Given the description of an element on the screen output the (x, y) to click on. 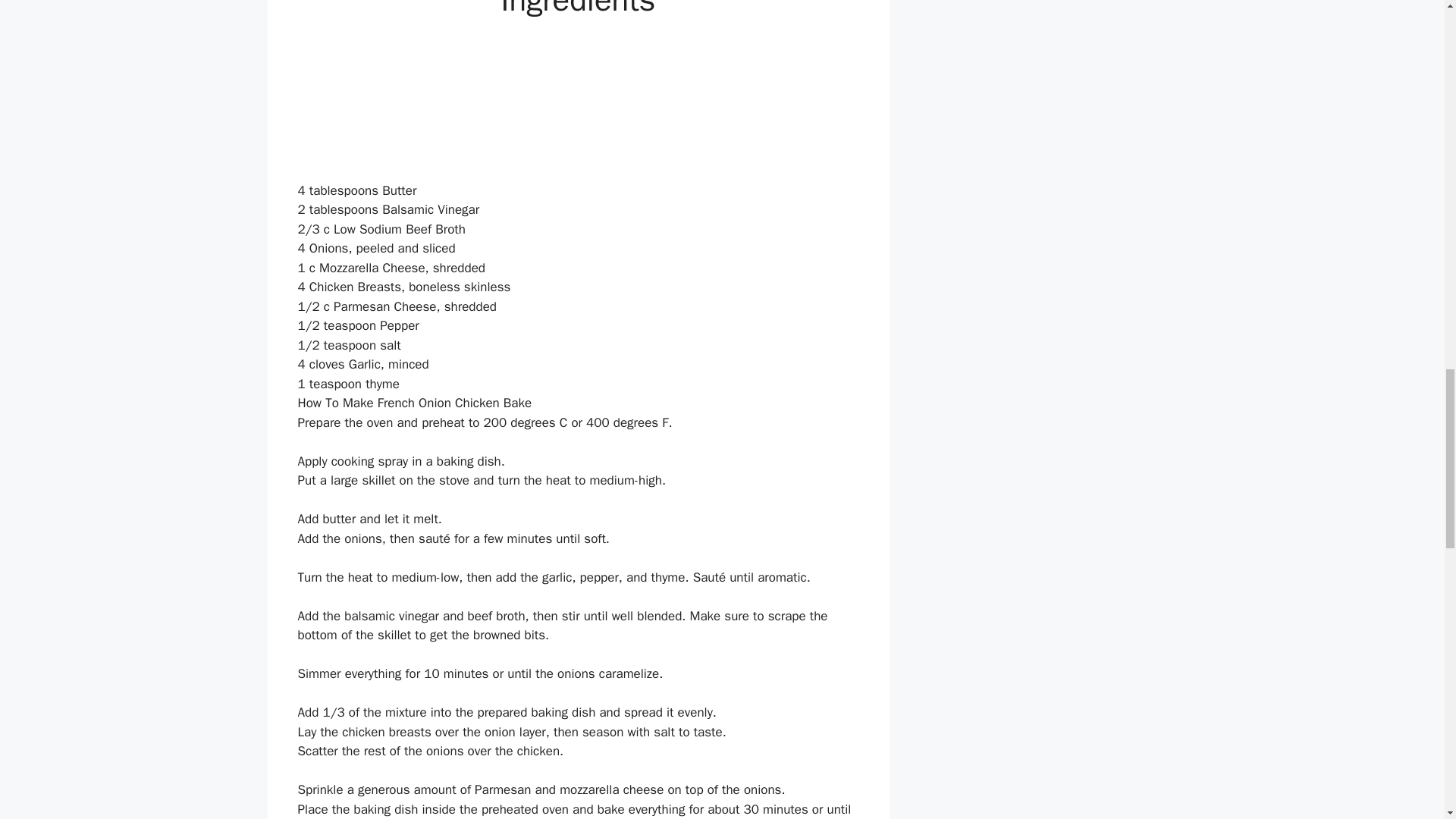
Advertisement (578, 105)
